Given the description of an element on the screen output the (x, y) to click on. 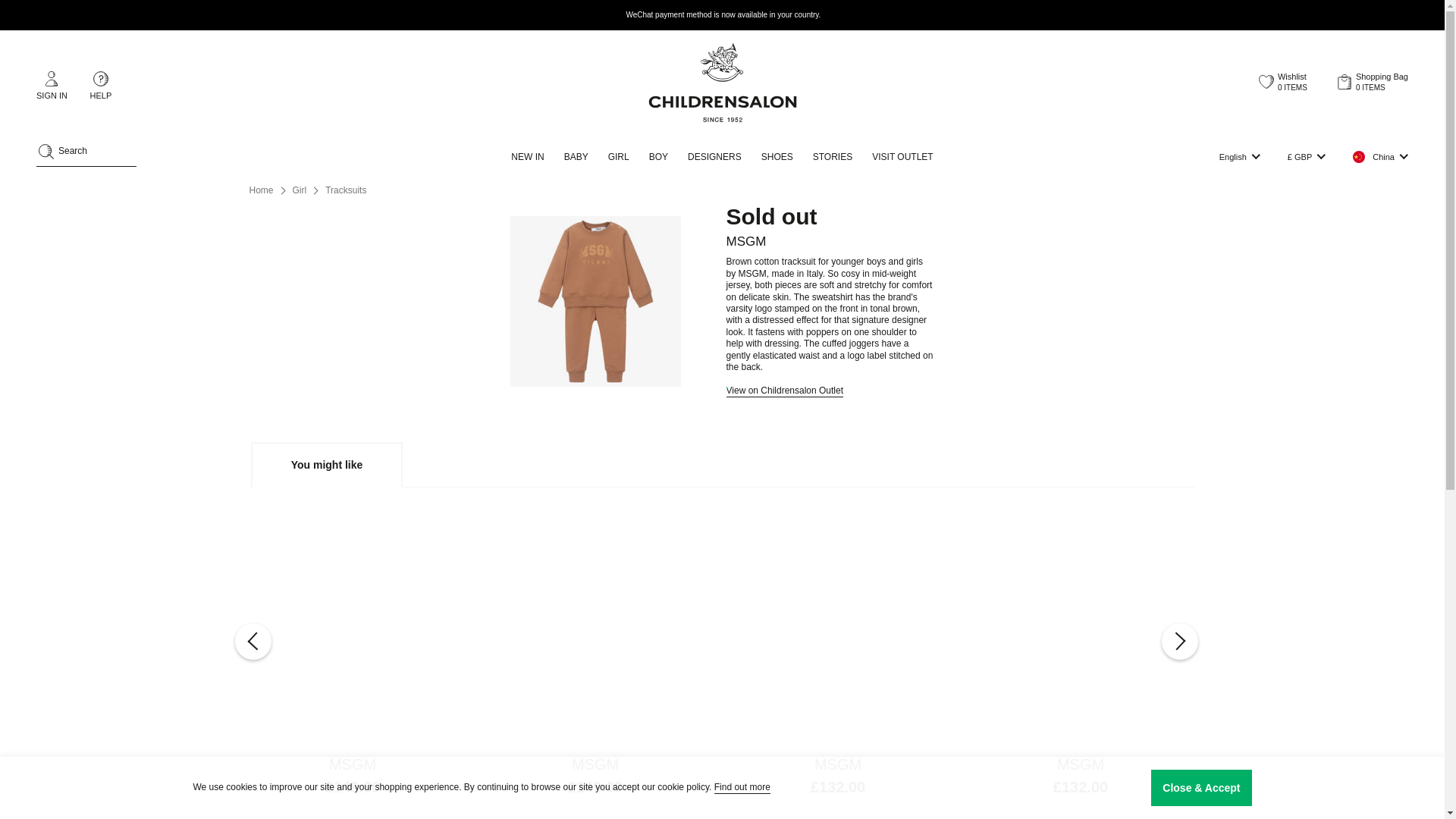
BABY (576, 157)
BOY (658, 157)
Boys Ivory Cotton Tracksuit (837, 538)
Girl (299, 190)
GIRL (618, 157)
Tracksuits (345, 190)
STORIES (832, 157)
Girl (299, 190)
Teen Black Cotton Tracksuit (595, 538)
Tracksuits (345, 190)
